Given the description of an element on the screen output the (x, y) to click on. 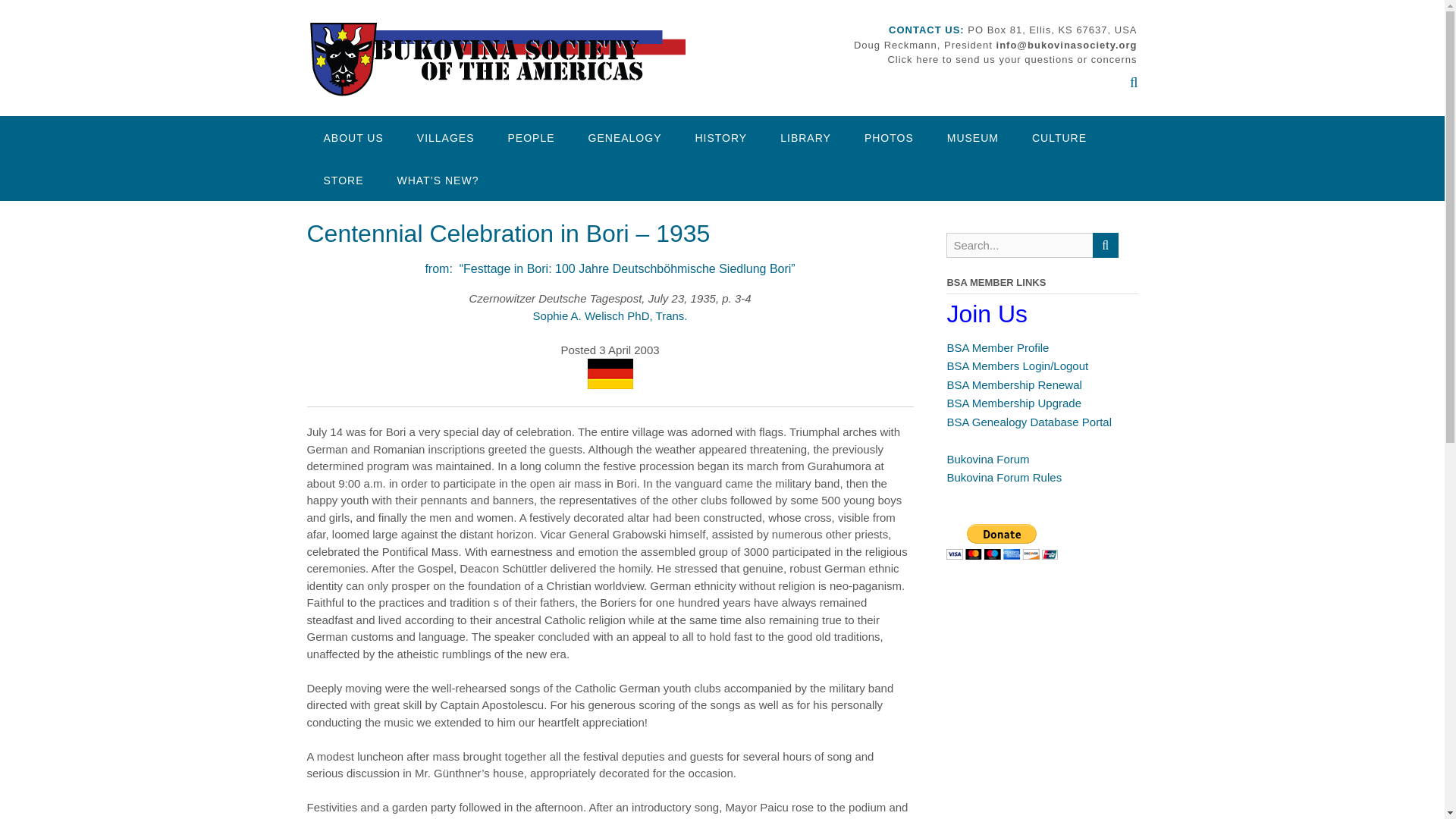
Search for: (1019, 244)
PEOPLE (532, 137)
ABOUT US (351, 137)
LIBRARY (804, 137)
HISTORY (720, 137)
VILLAGES (446, 137)
GENEALOGY (625, 137)
PHOTOS (888, 137)
PayPal - The safer, easier way to pay online! (1002, 541)
